Given the description of an element on the screen output the (x, y) to click on. 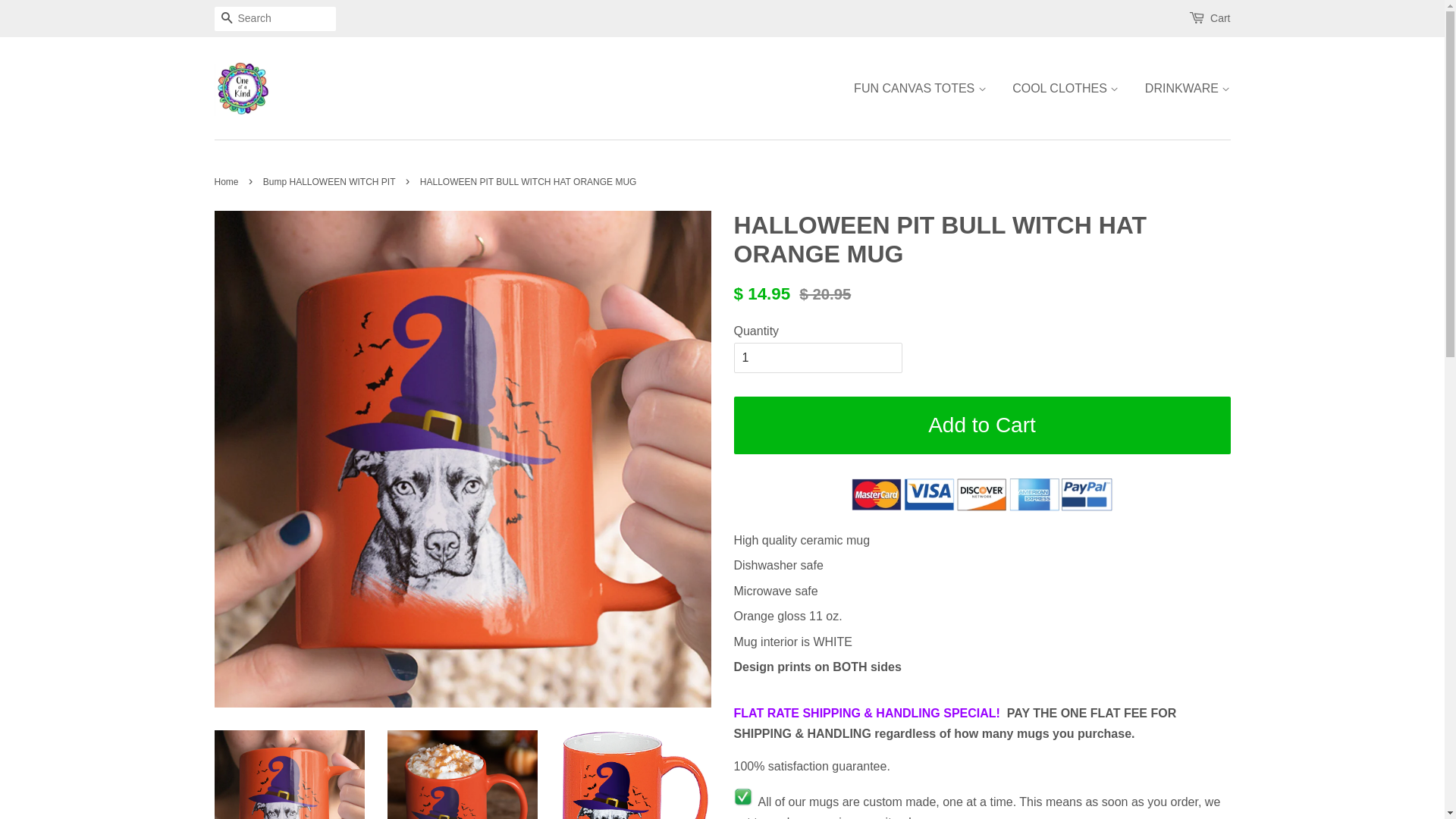
COOL CLOTHES Element type: text (1065, 87)
Home Element type: text (227, 181)
FUN CANVAS TOTES Element type: text (925, 87)
Bump HALLOWEEN WITCH PIT Element type: text (331, 181)
DRINKWARE Element type: text (1181, 87)
Add to Cart Element type: text (982, 425)
Cart Element type: text (1220, 18)
Search Element type: text (225, 18)
